Given the description of an element on the screen output the (x, y) to click on. 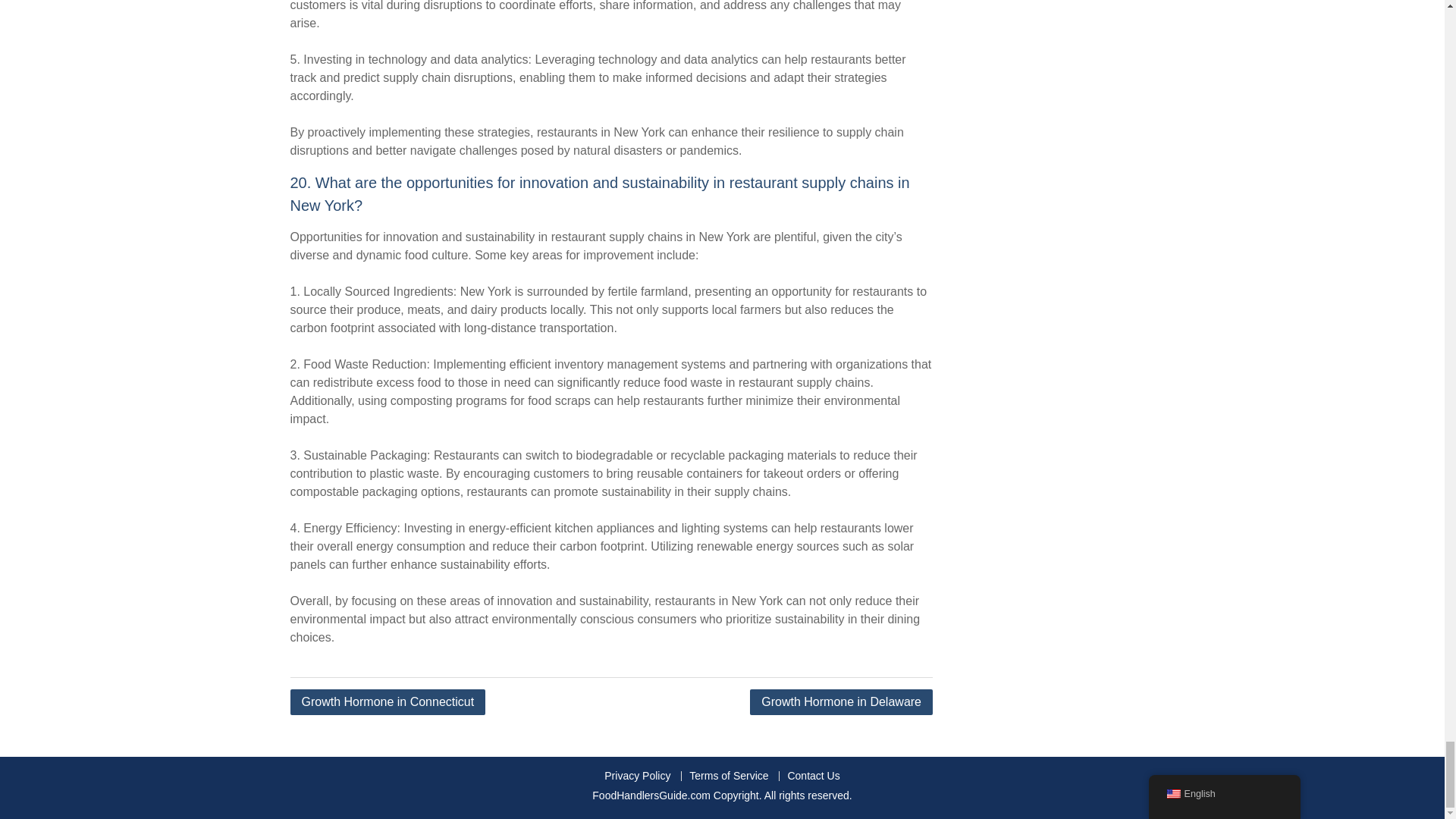
Growth Hormone in Connecticut (386, 701)
Growth Hormone in Delaware (841, 701)
